Given the description of an element on the screen output the (x, y) to click on. 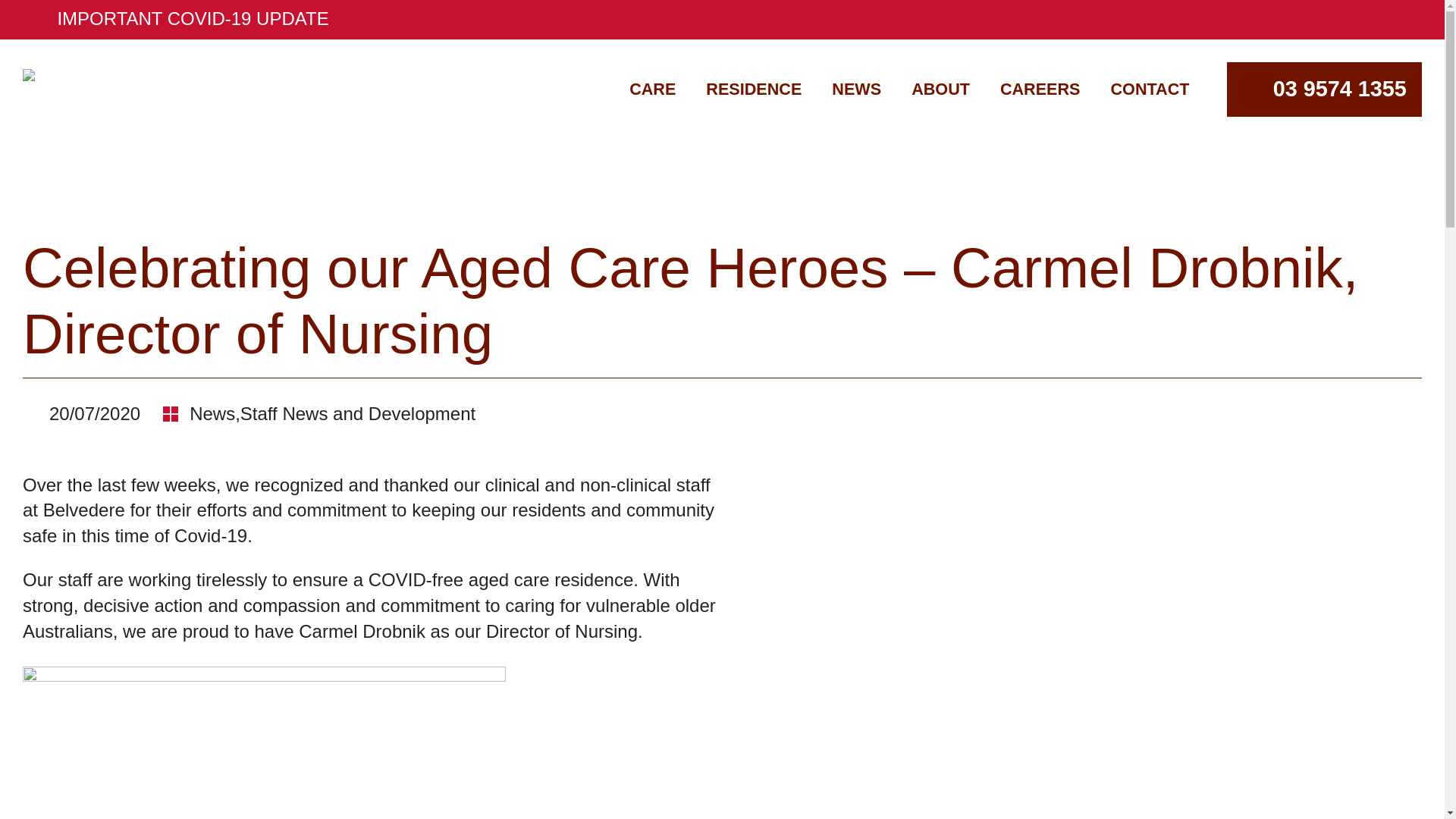
IMPORTANT COVID-19 UPDATE (722, 19)
ABOUT (940, 89)
NEWS (855, 89)
News (211, 413)
03 9574 1355 (1324, 89)
CONTACT (1149, 89)
CARE (651, 89)
CAREERS (1040, 89)
Staff News and Development (358, 413)
RESIDENCE (754, 89)
